Given the description of an element on the screen output the (x, y) to click on. 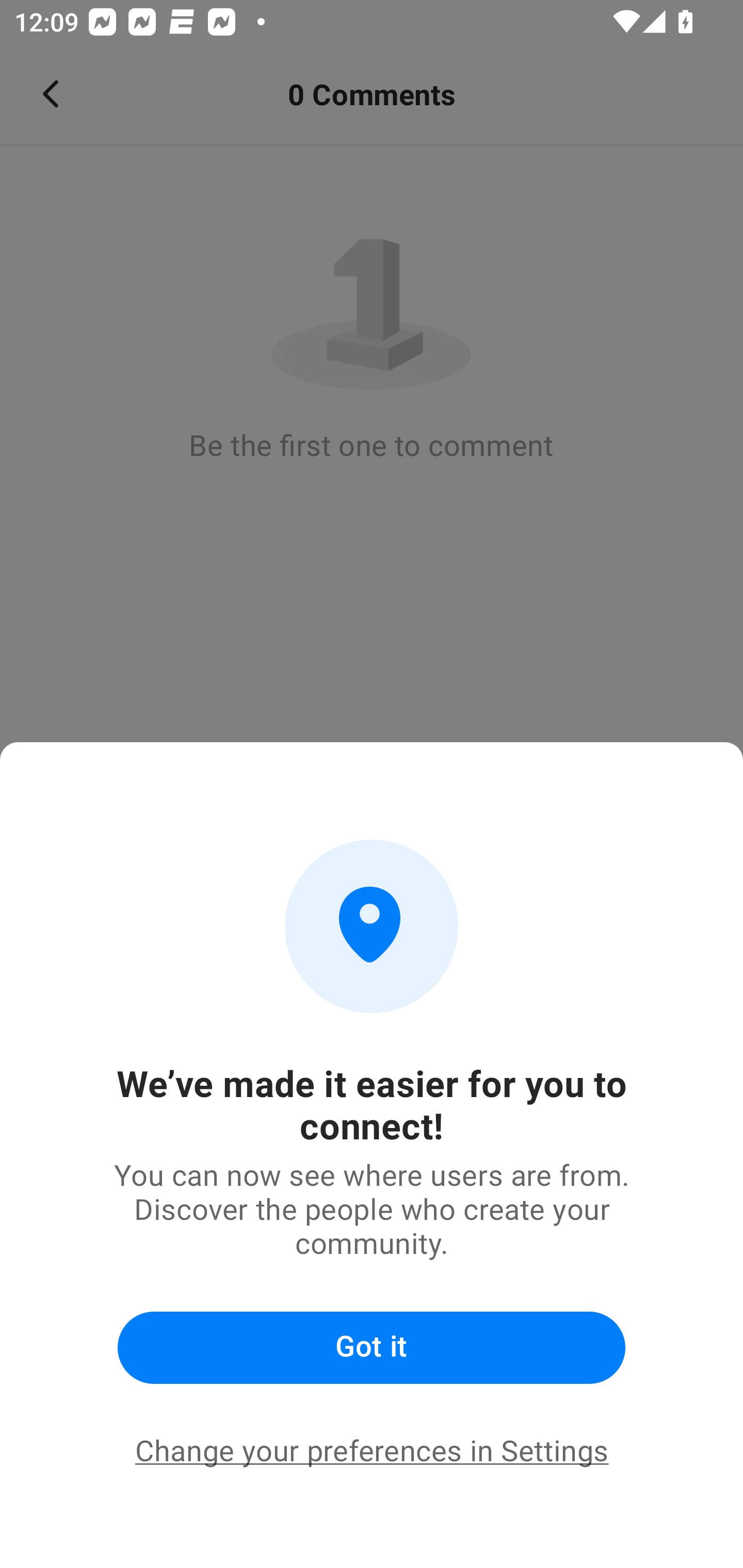
Got it (371, 1348)
Change your preferences in Settings (371, 1451)
